Given the description of an element on the screen output the (x, y) to click on. 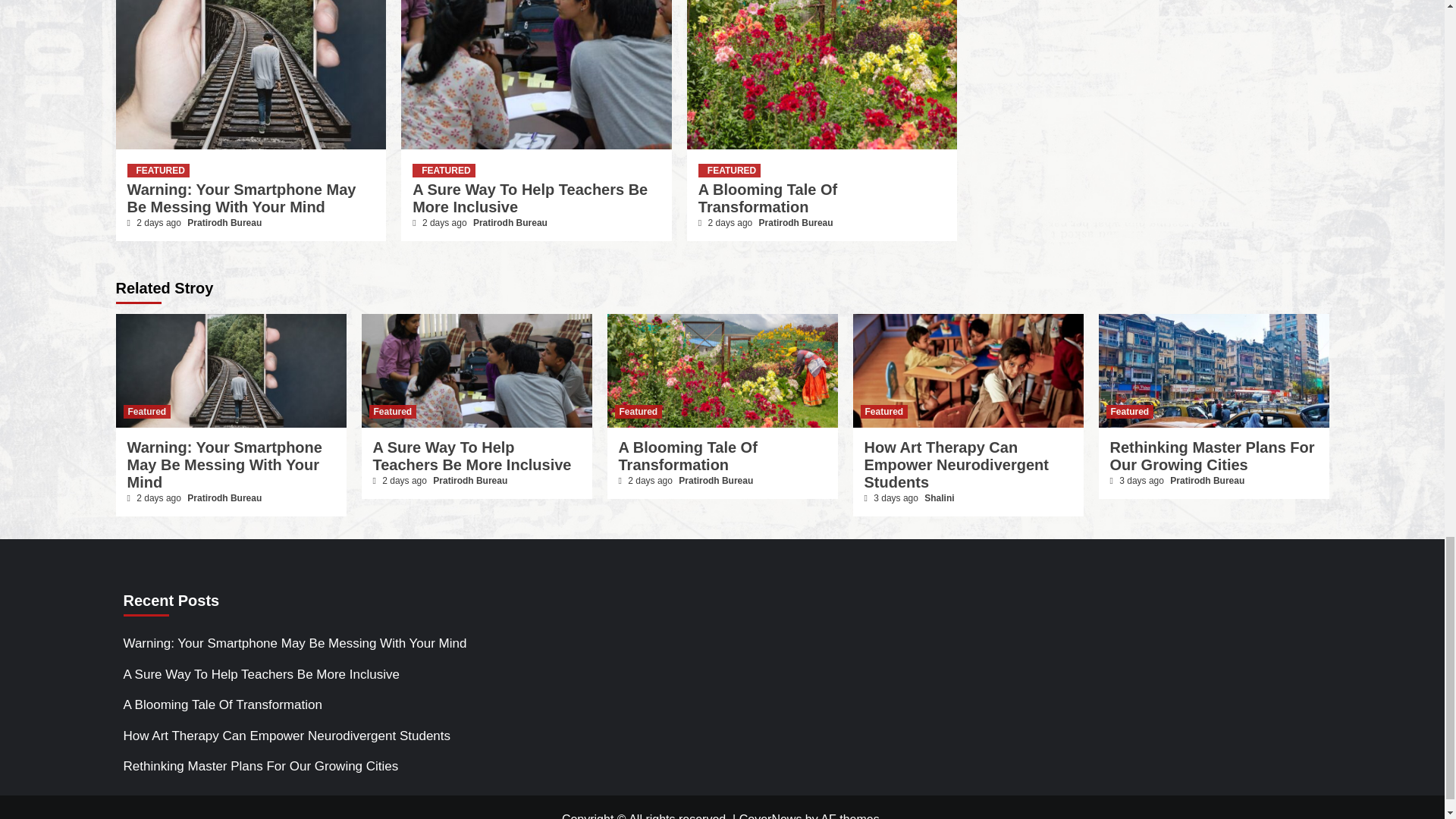
A Sure Way To Help Teachers Be More Inclusive (529, 197)
Pratirodh Bureau (510, 222)
FEATURED (443, 170)
Warning: Your Smartphone May Be Messing With Your Mind (242, 197)
FEATURED (158, 170)
Pratirodh Bureau (224, 222)
